Given the description of an element on the screen output the (x, y) to click on. 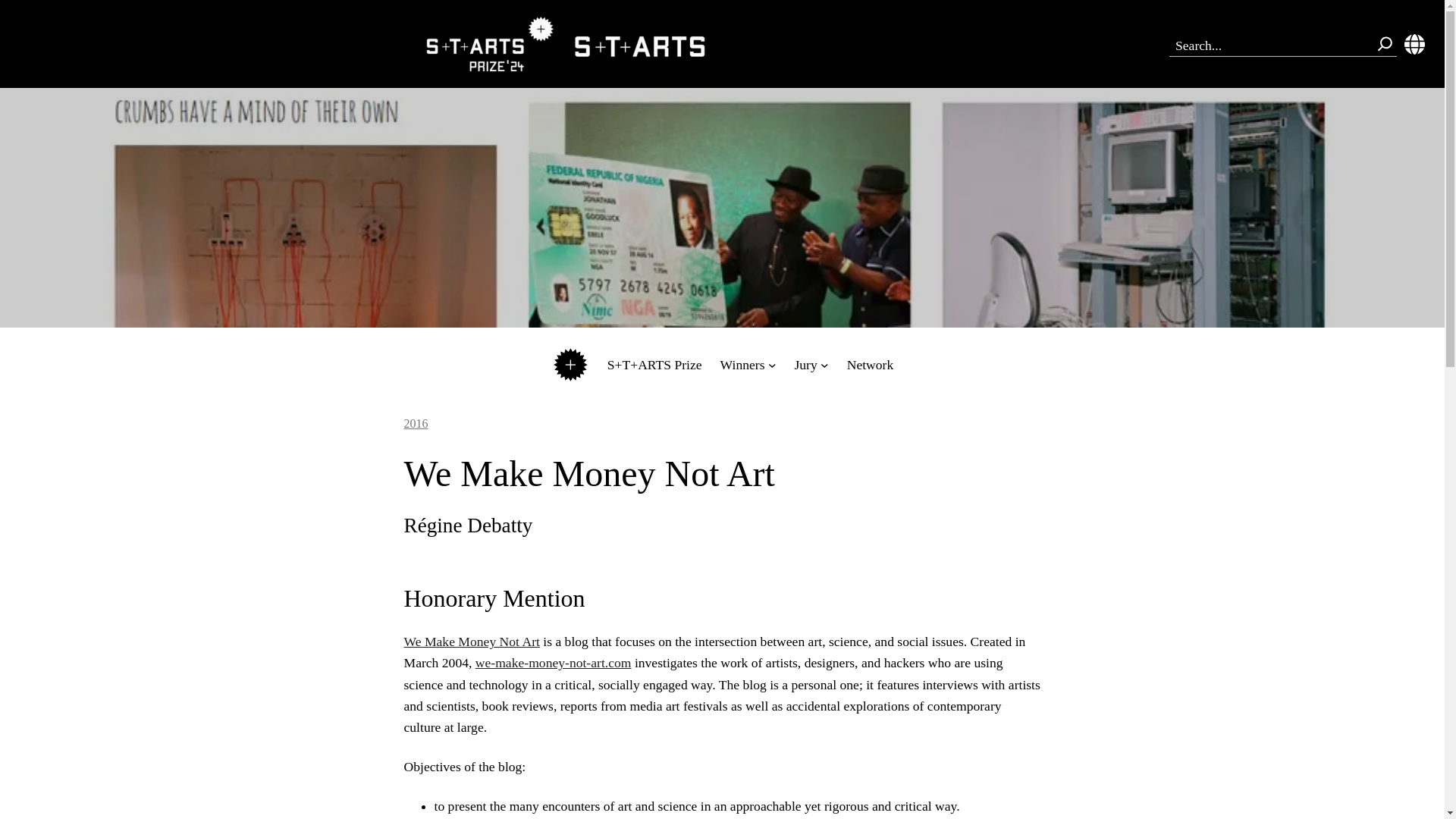
We Make Money Not Art (470, 641)
we-make-money-not-art.com (553, 662)
Winners (742, 364)
2016 (415, 422)
Jury (804, 364)
Network (870, 364)
